Given the description of an element on the screen output the (x, y) to click on. 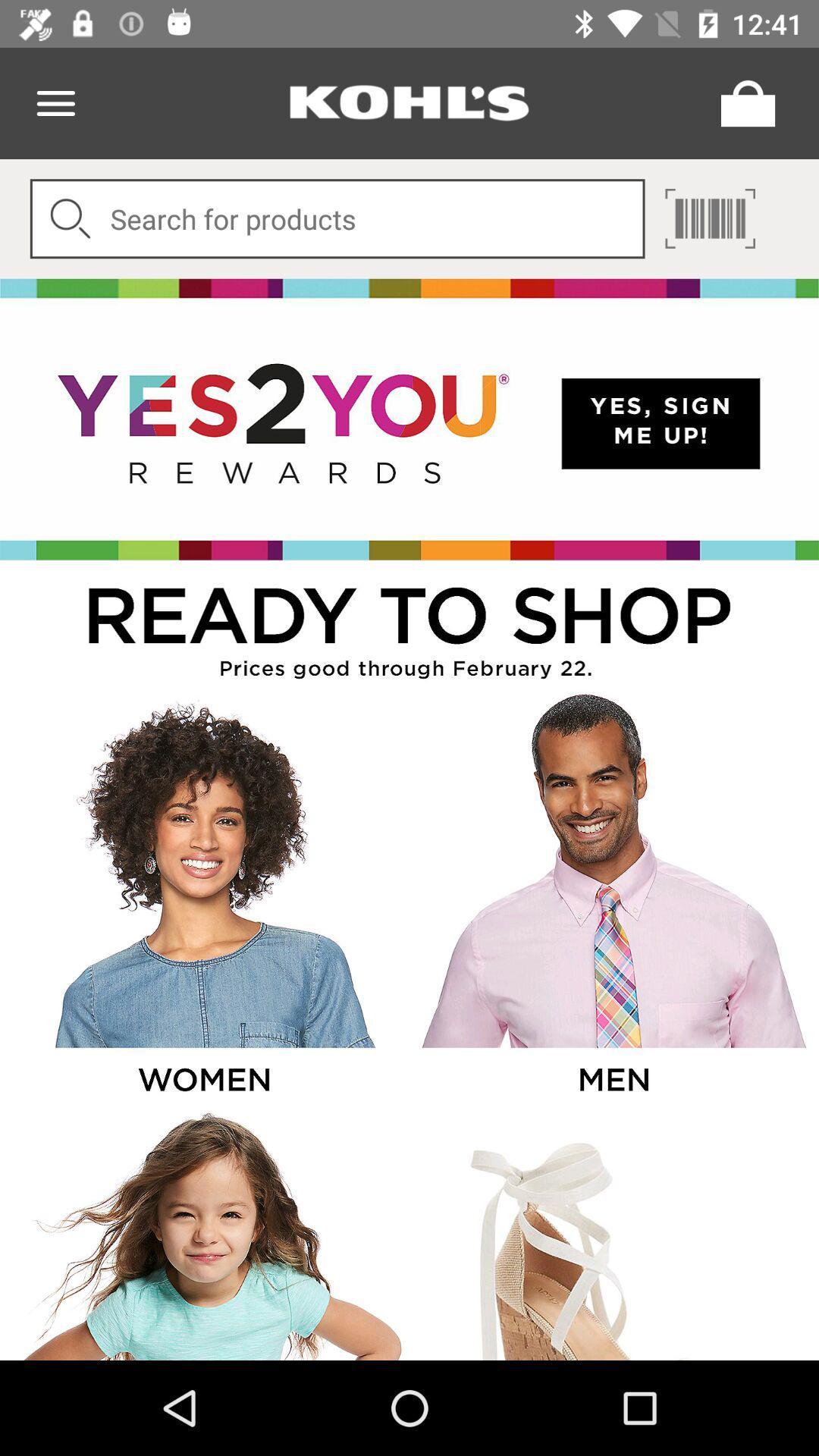
store name option (409, 103)
